Given the description of an element on the screen output the (x, y) to click on. 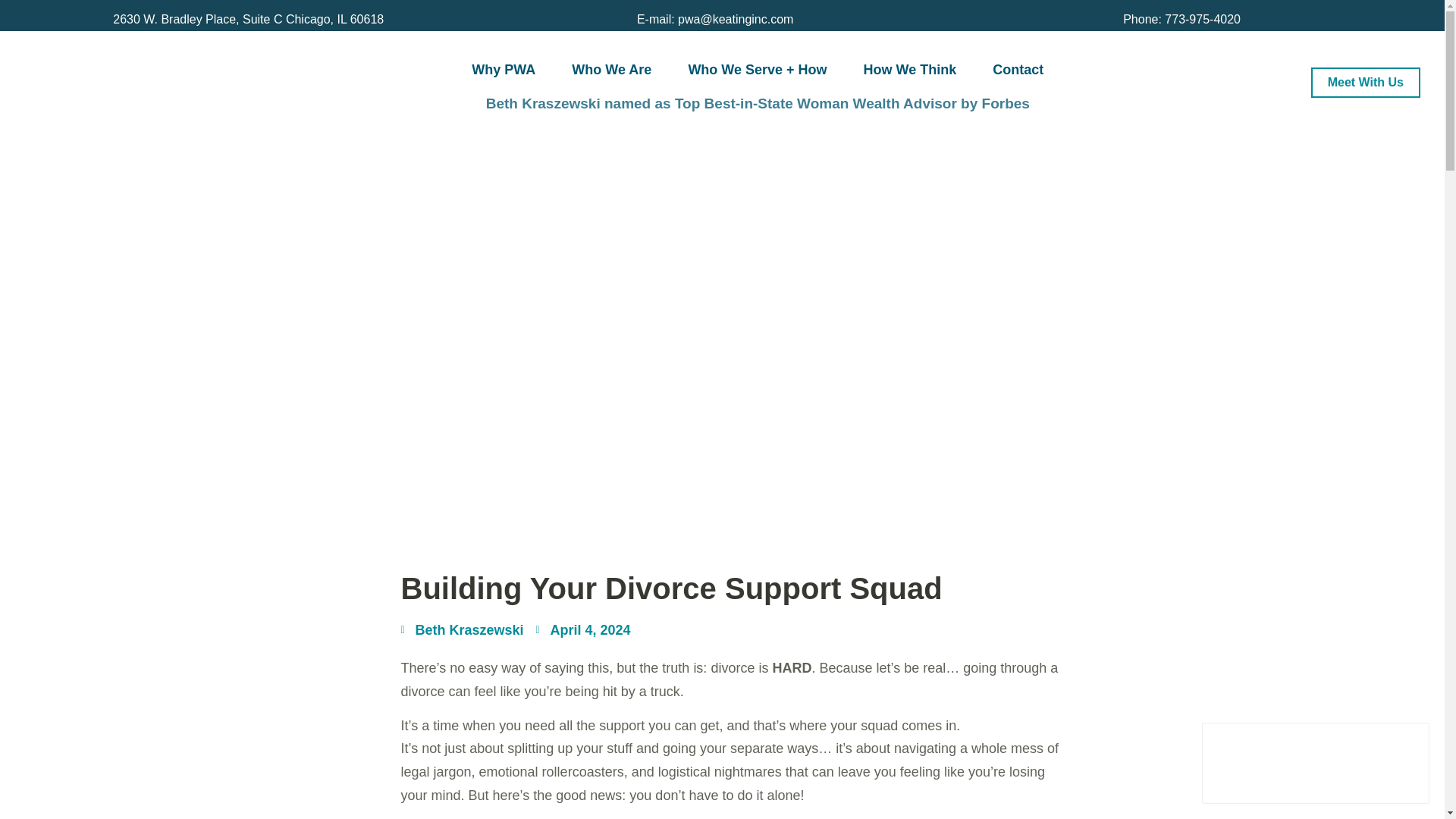
Beth Kraszewski (461, 630)
April 4, 2024 (582, 630)
Who We Are (611, 69)
Meet With Us (1366, 82)
Contact (1017, 69)
How We Think (909, 69)
Why PWA (503, 69)
